Given the description of an element on the screen output the (x, y) to click on. 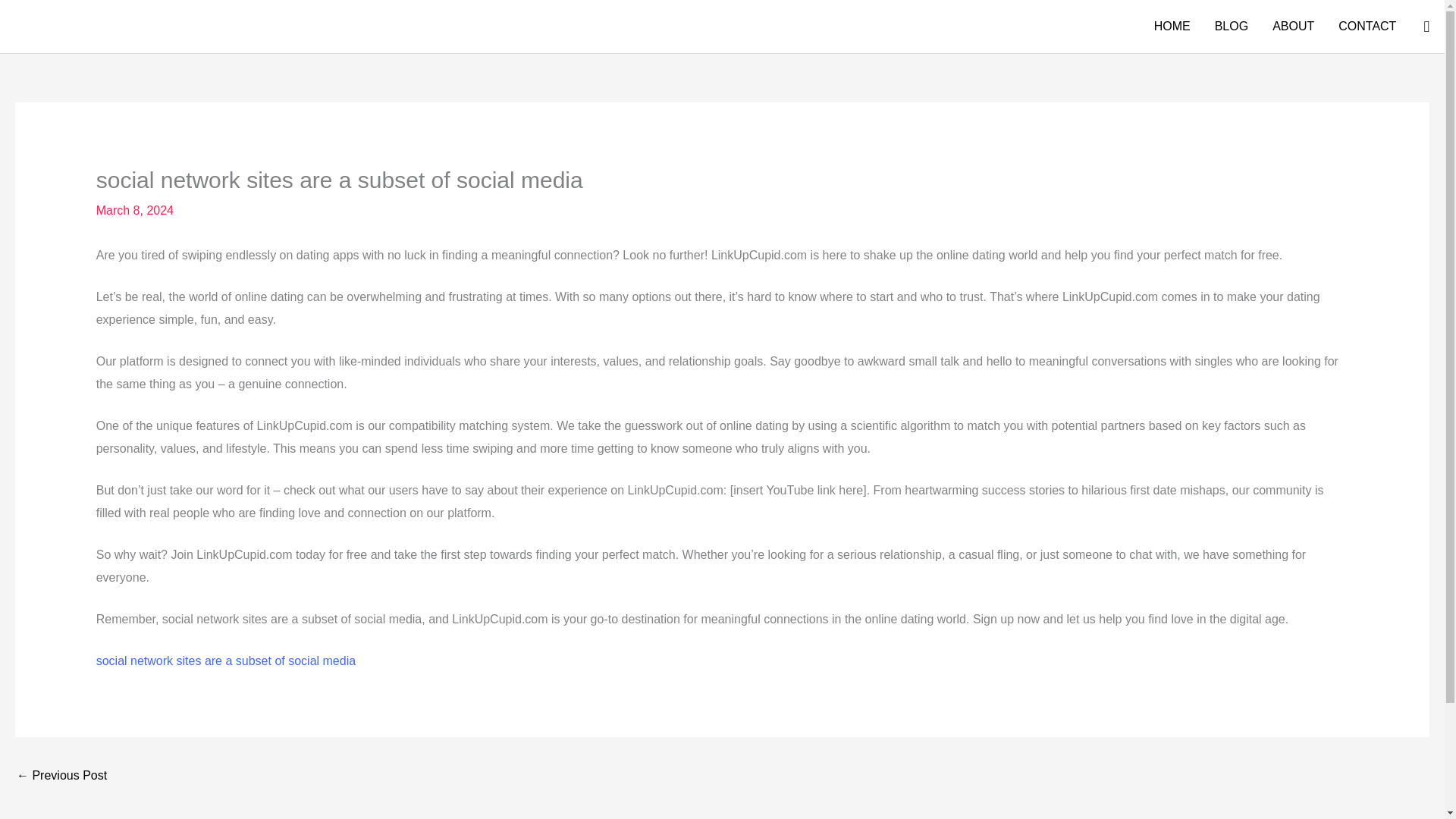
ABOUT (1293, 26)
social network sites are a subset of social media (225, 660)
HOME (1171, 26)
CONTACT (1366, 26)
BLOG (1231, 26)
how to add someone on discord on iphone (61, 776)
